Given the description of an element on the screen output the (x, y) to click on. 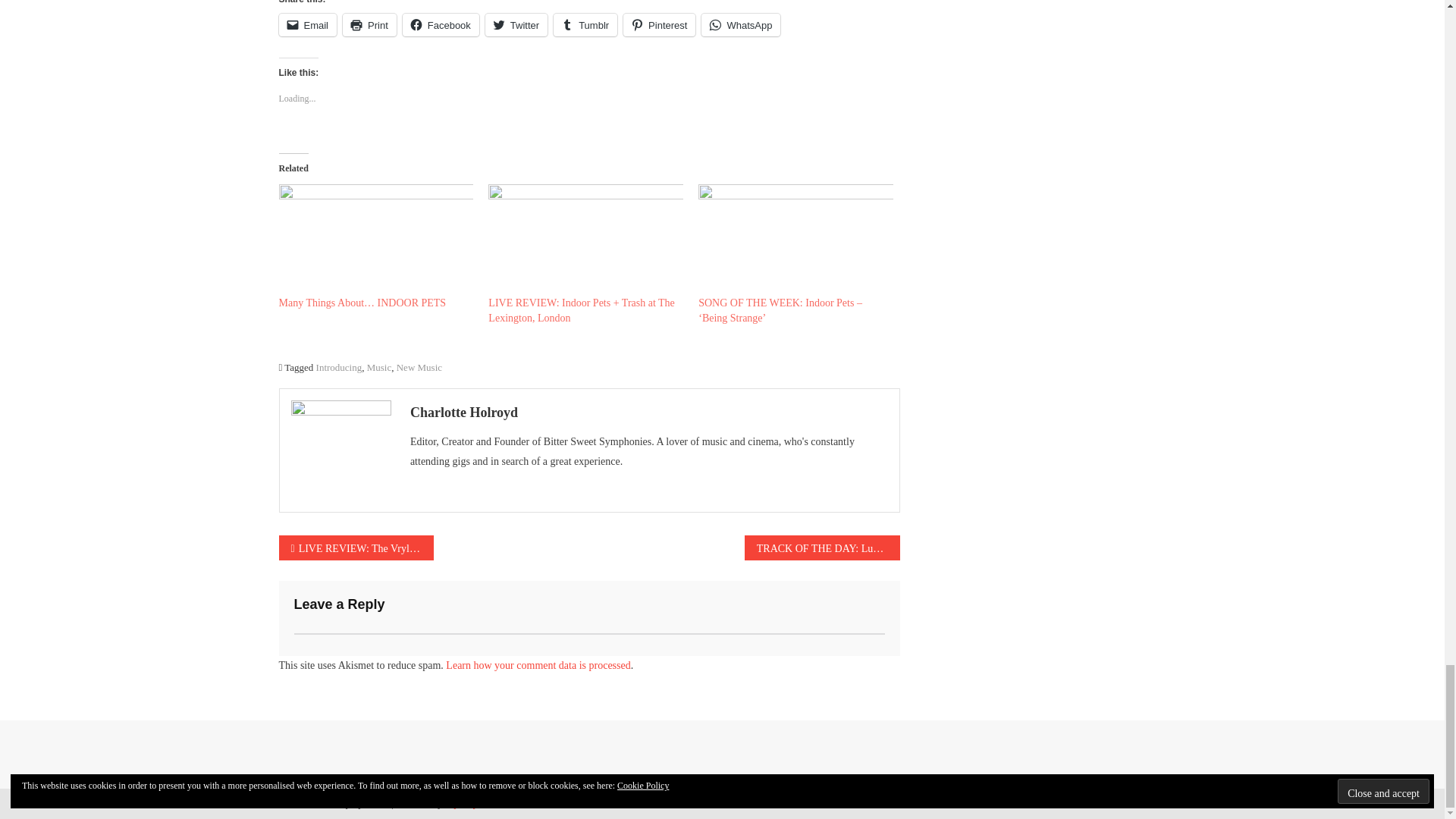
Print (369, 24)
Click to email a link to a friend (308, 24)
Twitter (515, 24)
Click to share on Facebook (441, 24)
Email (308, 24)
Click to print (369, 24)
Click to share on Pinterest (659, 24)
Facebook (441, 24)
Click to share on Twitter (515, 24)
Click to share on WhatsApp (740, 24)
Click to share on Tumblr (585, 24)
